Given the description of an element on the screen output the (x, y) to click on. 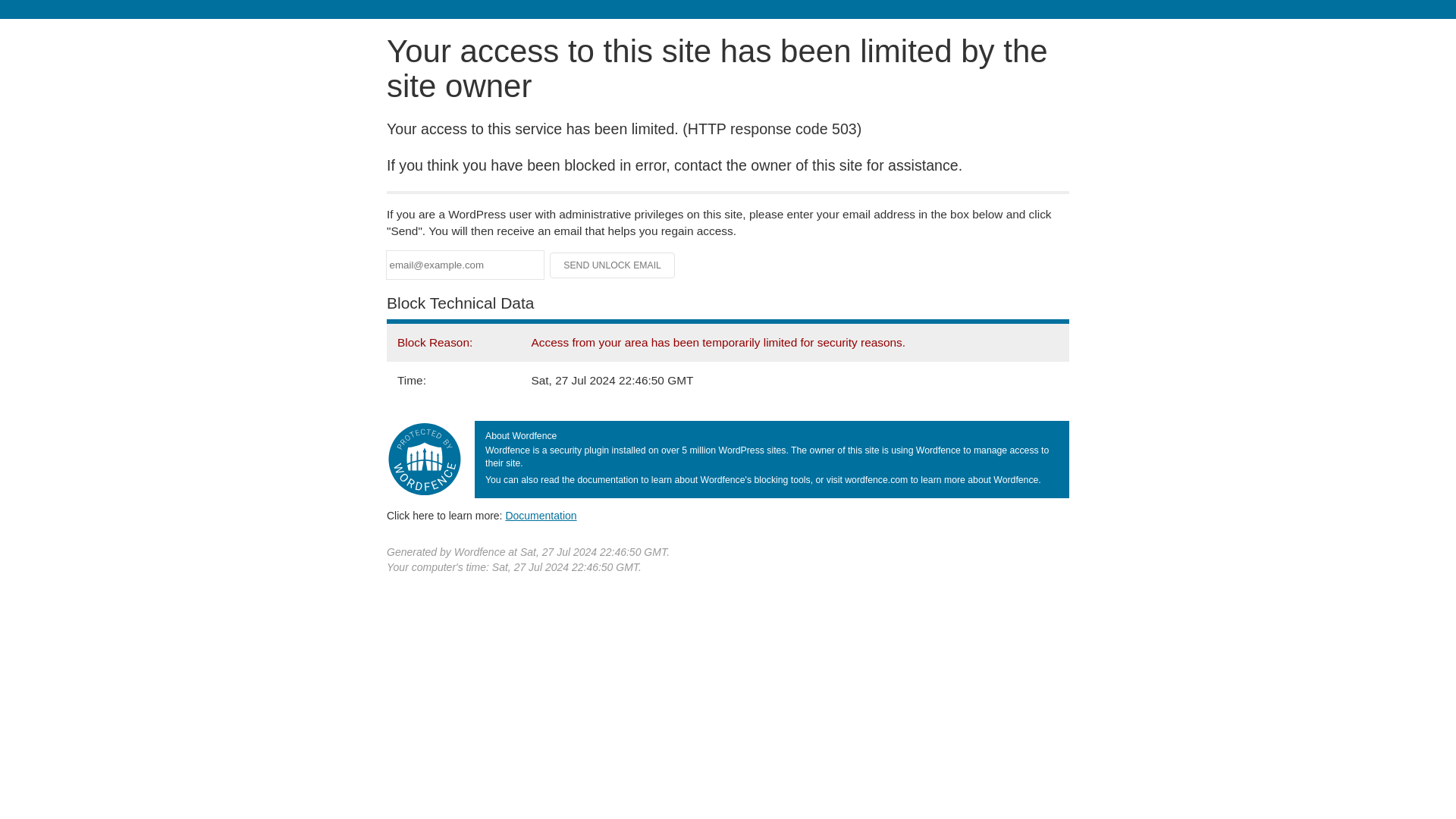
Documentation (540, 515)
Send Unlock Email (612, 265)
Send Unlock Email (612, 265)
